Given the description of an element on the screen output the (x, y) to click on. 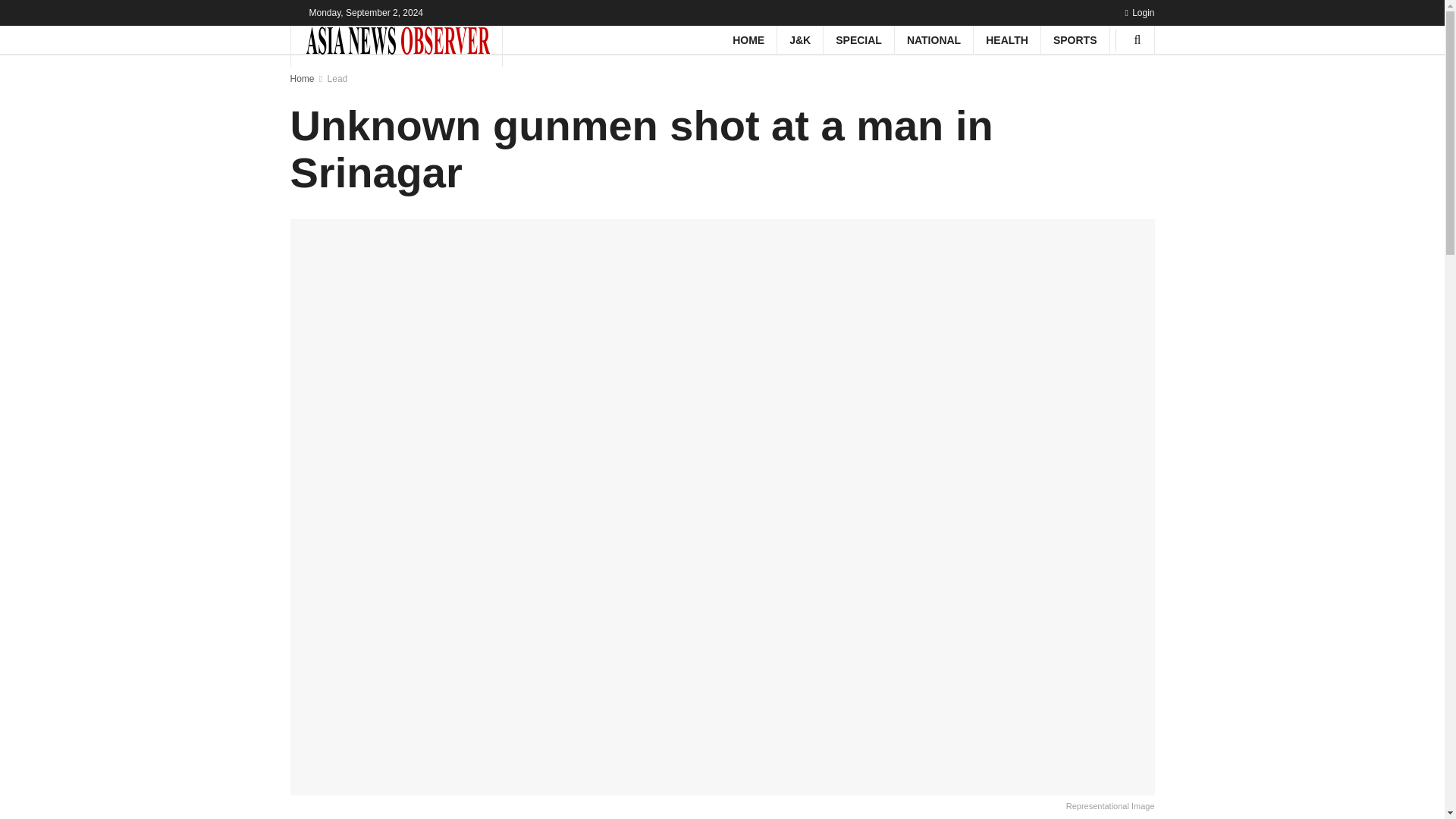
HOME (748, 40)
Login (1139, 12)
SPORTS (1075, 40)
Home (301, 78)
SPECIAL (858, 40)
Lead (337, 78)
HEALTH (1007, 40)
NATIONAL (933, 40)
